Given the description of an element on the screen output the (x, y) to click on. 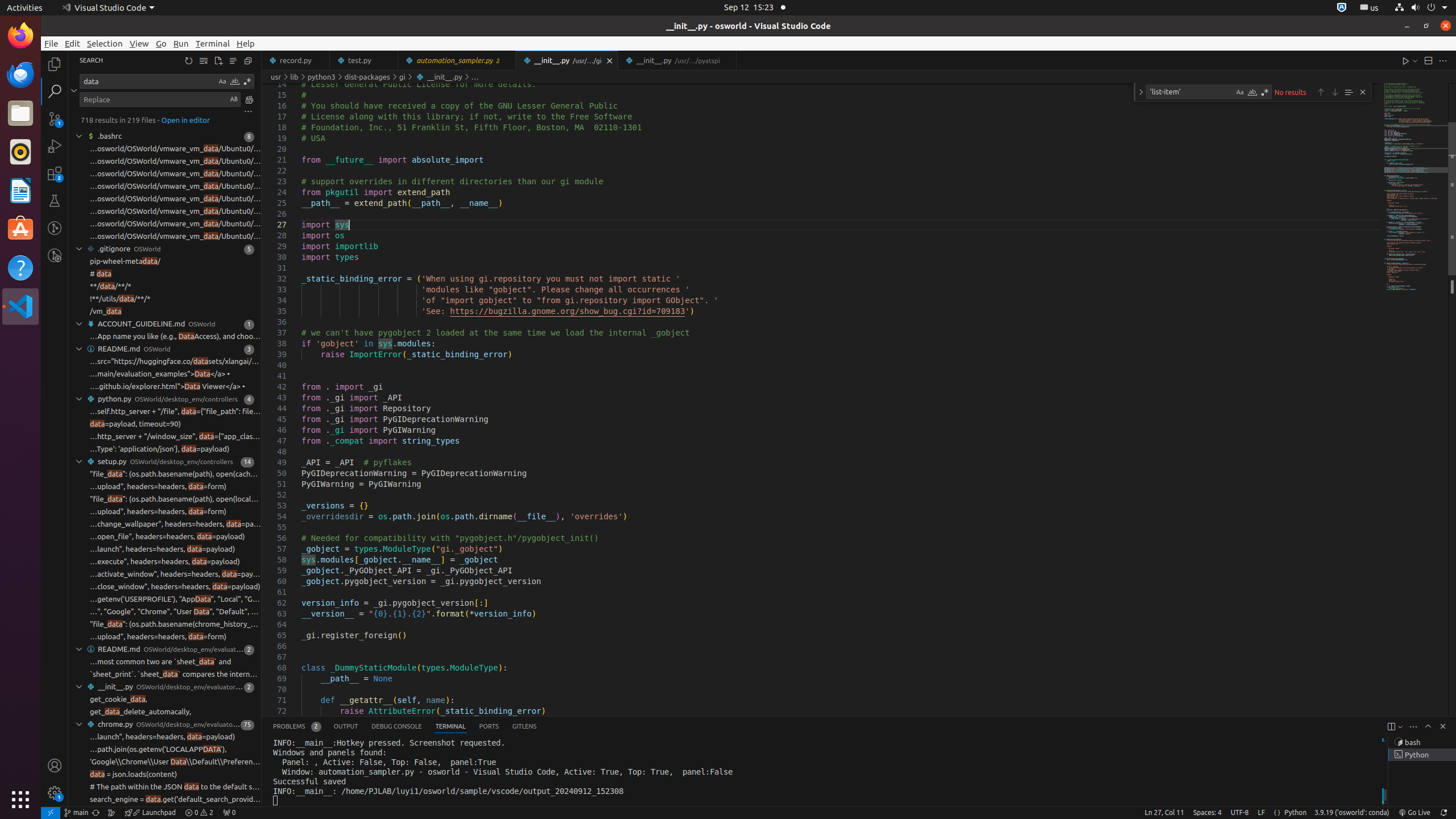
' "file_data": (os.path.basename(path), open(local_path, "rb"))' at column 23 found data Element type: tree-item (164, 498)
LF Element type: push-button (1261, 812)
Launch Profile... Element type: push-button (1399, 726)
'pip-wheel-metadata/' at column 15 found data Element type: tree-item (164, 260)
Go Element type: push-button (161, 43)
